Given the description of an element on the screen output the (x, y) to click on. 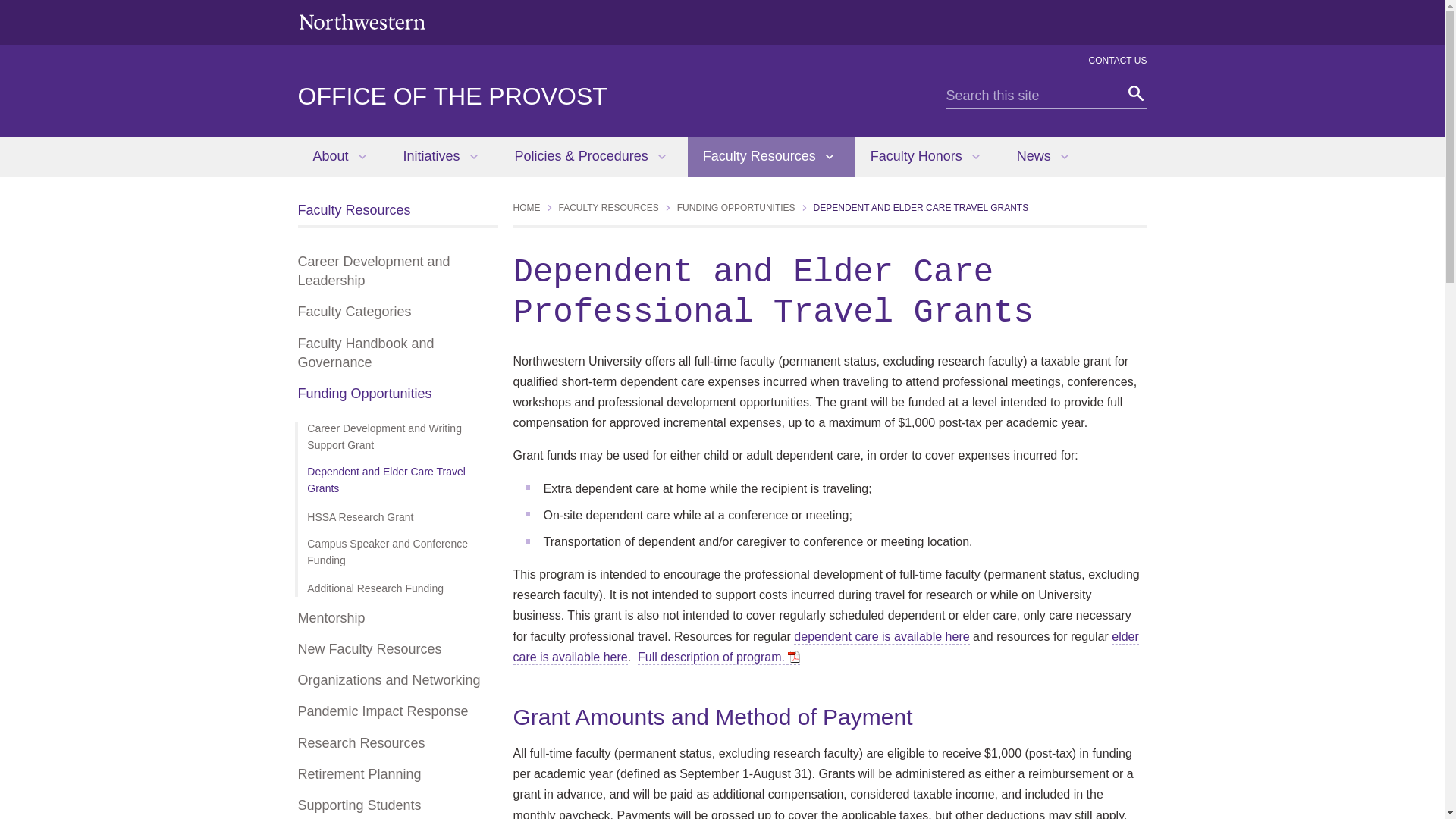
CONTACT US (1118, 60)
Northwestern University Home (361, 21)
OFFICE OF THE PROVOST (452, 94)
Office of the Provost Home (452, 94)
